Given the description of an element on the screen output the (x, y) to click on. 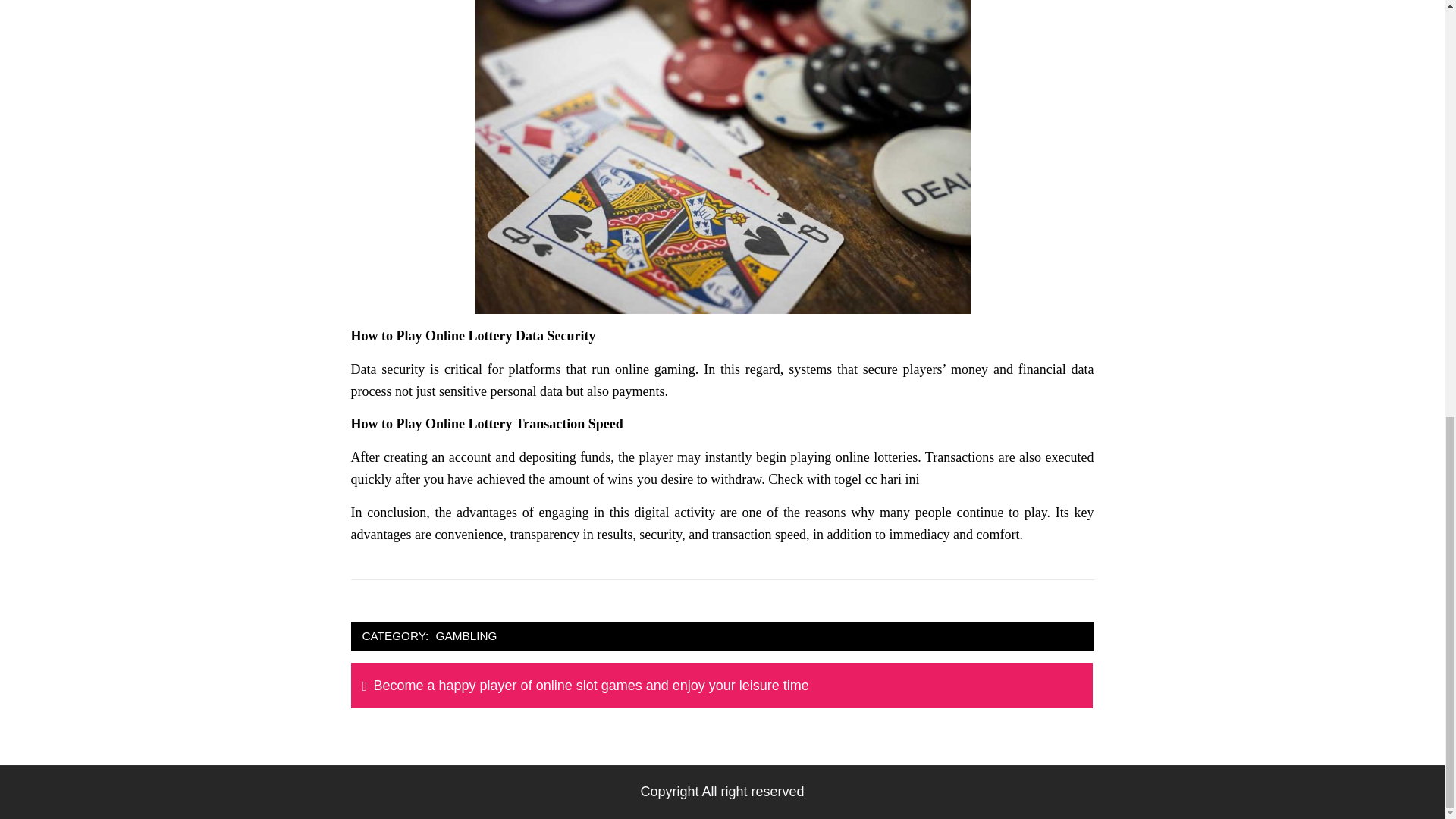
GAMBLING (466, 636)
